Given the description of an element on the screen output the (x, y) to click on. 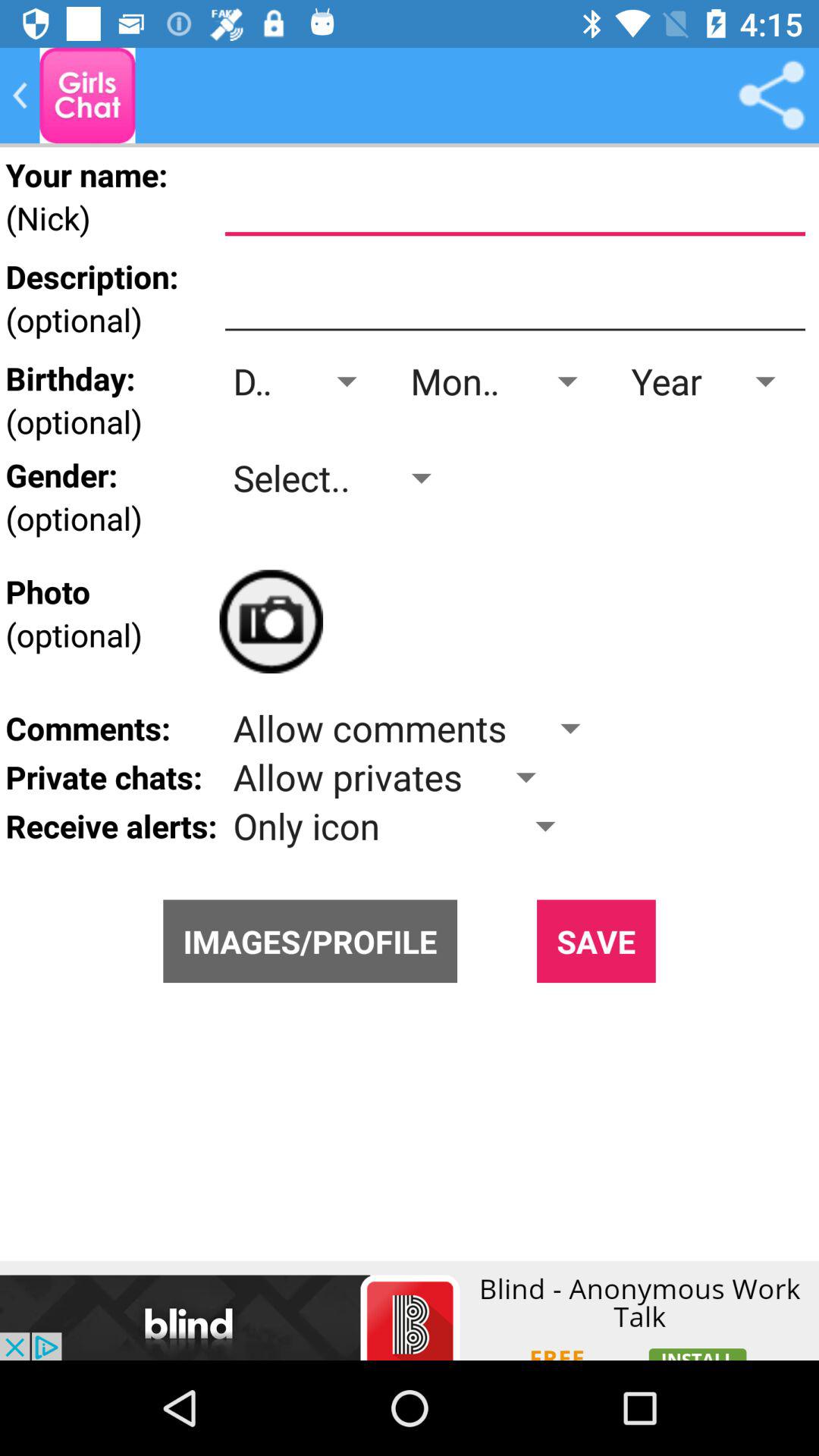
add photo (271, 621)
